Given the description of an element on the screen output the (x, y) to click on. 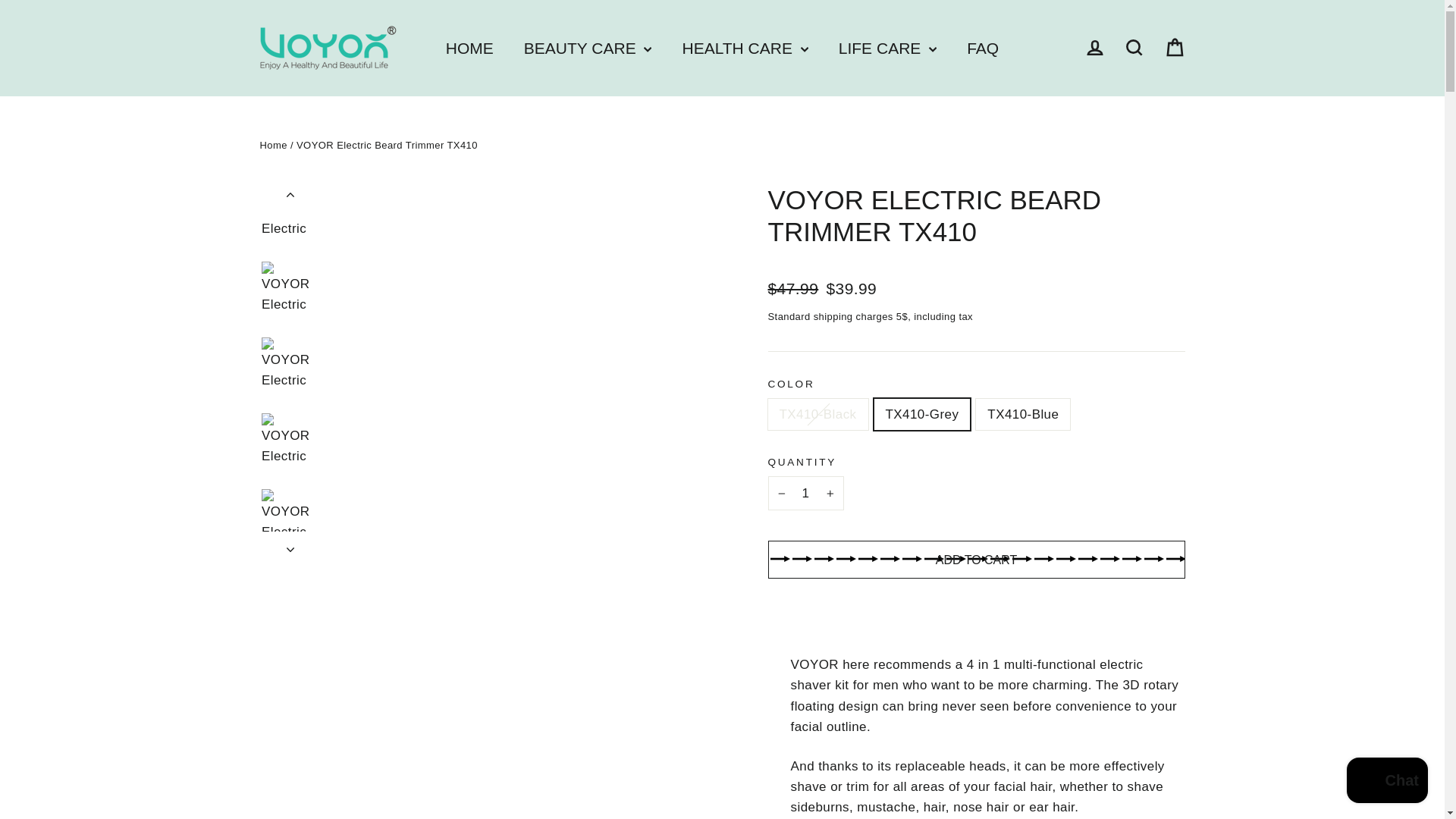
Chat negozio online di Shopify (1387, 781)
1 (805, 492)
HEALTH CARE (744, 48)
Back to the frontpage (272, 144)
BEAUTY CARE (587, 48)
HOME (469, 48)
